Given the description of an element on the screen output the (x, y) to click on. 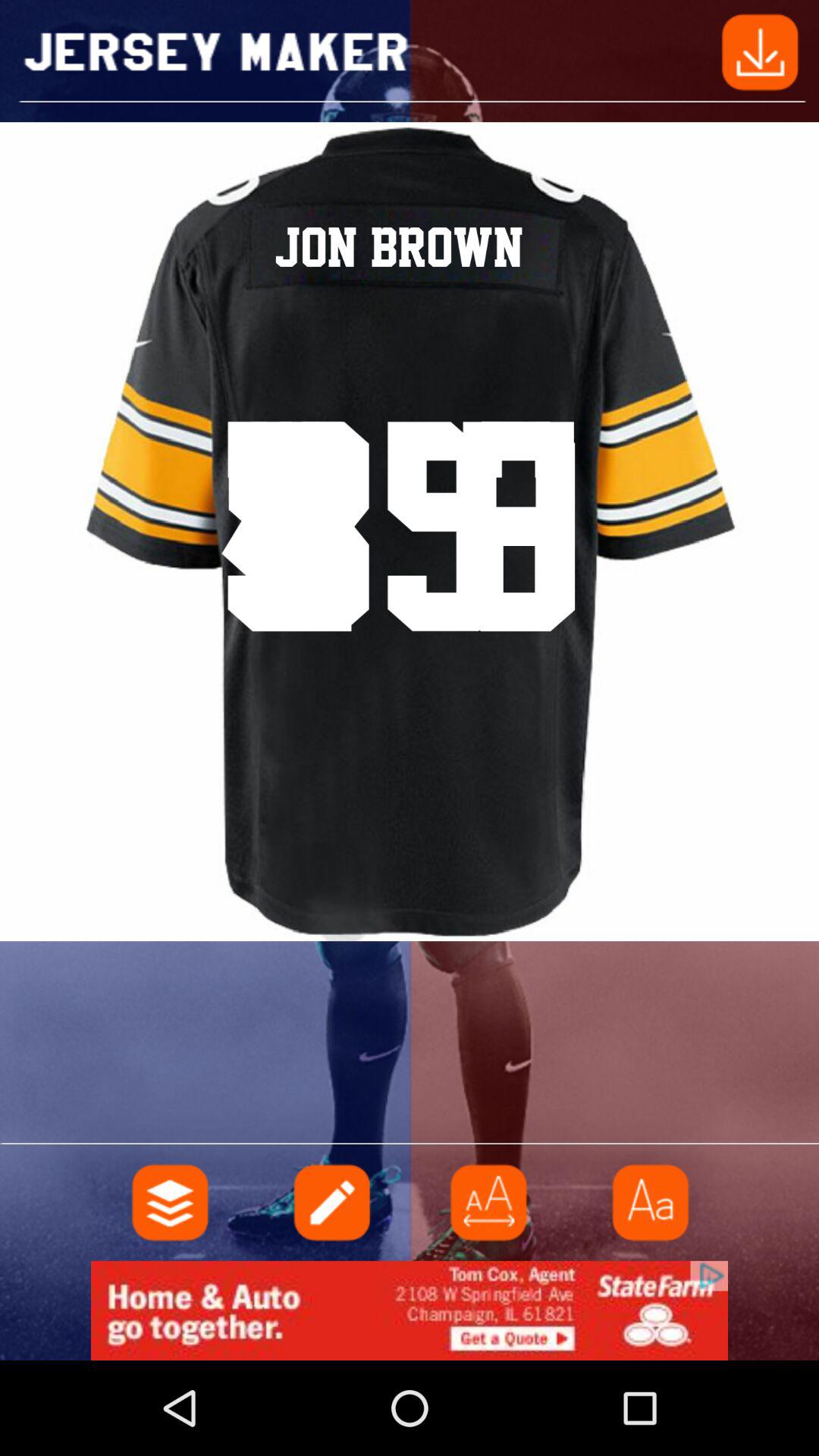
add text (329, 1202)
